Given the description of an element on the screen output the (x, y) to click on. 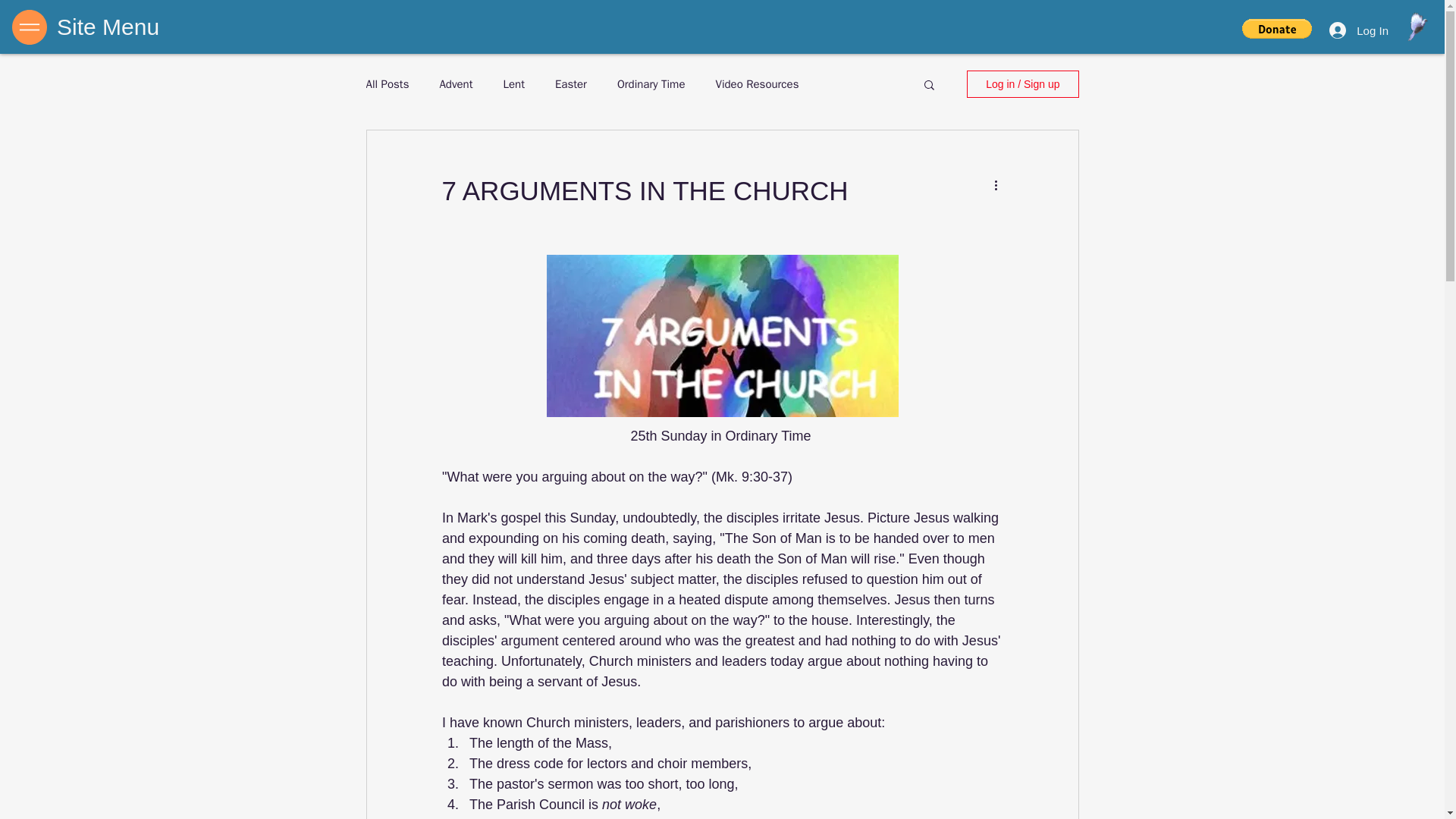
Ordinary Time (651, 83)
Log In (1359, 30)
Advent (455, 83)
Video Resources (755, 83)
Lent (513, 83)
Site Menu (107, 26)
Easter (570, 83)
All Posts (387, 83)
